Given the description of an element on the screen output the (x, y) to click on. 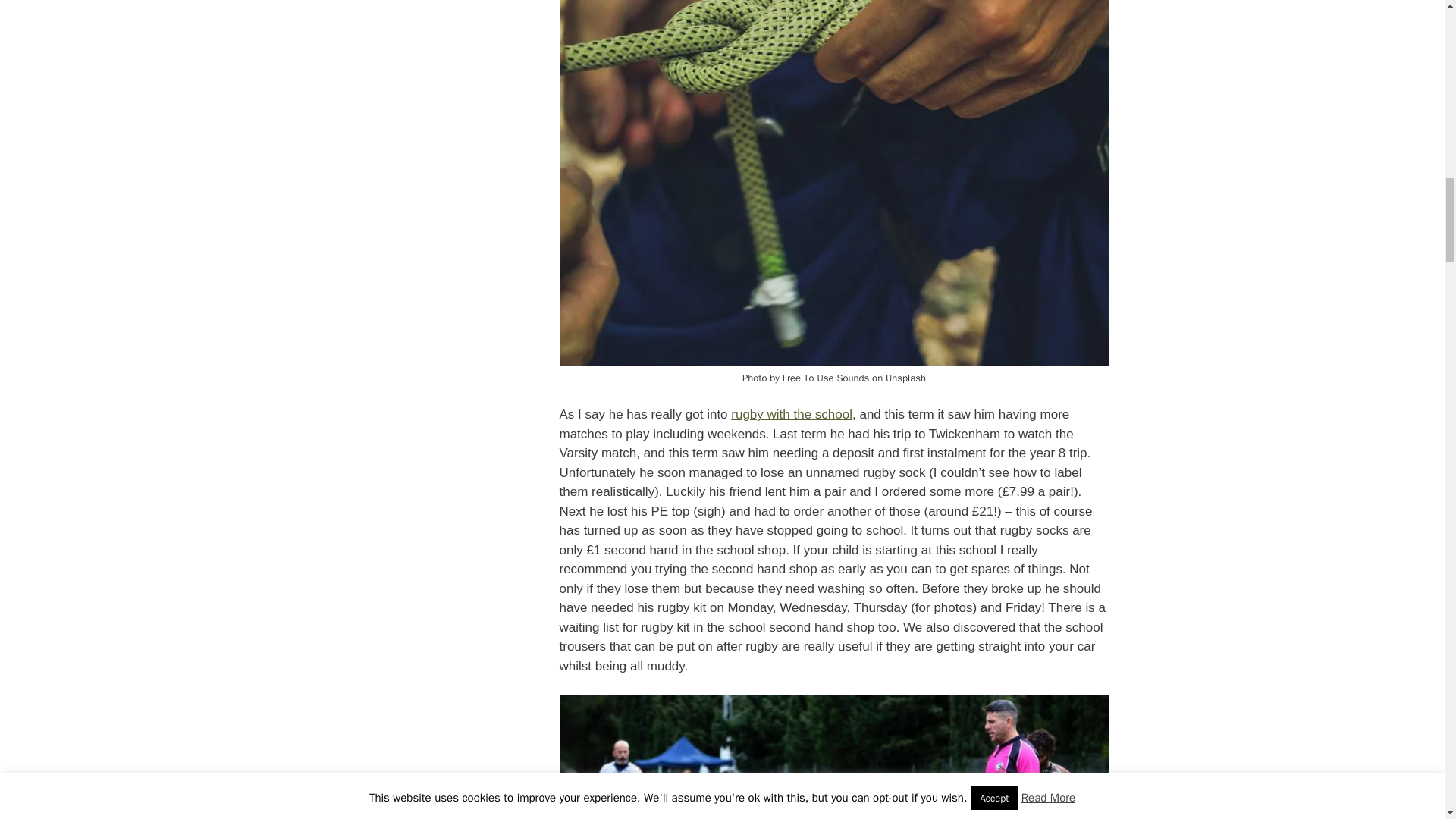
rugby with the school (790, 414)
